Given the description of an element on the screen output the (x, y) to click on. 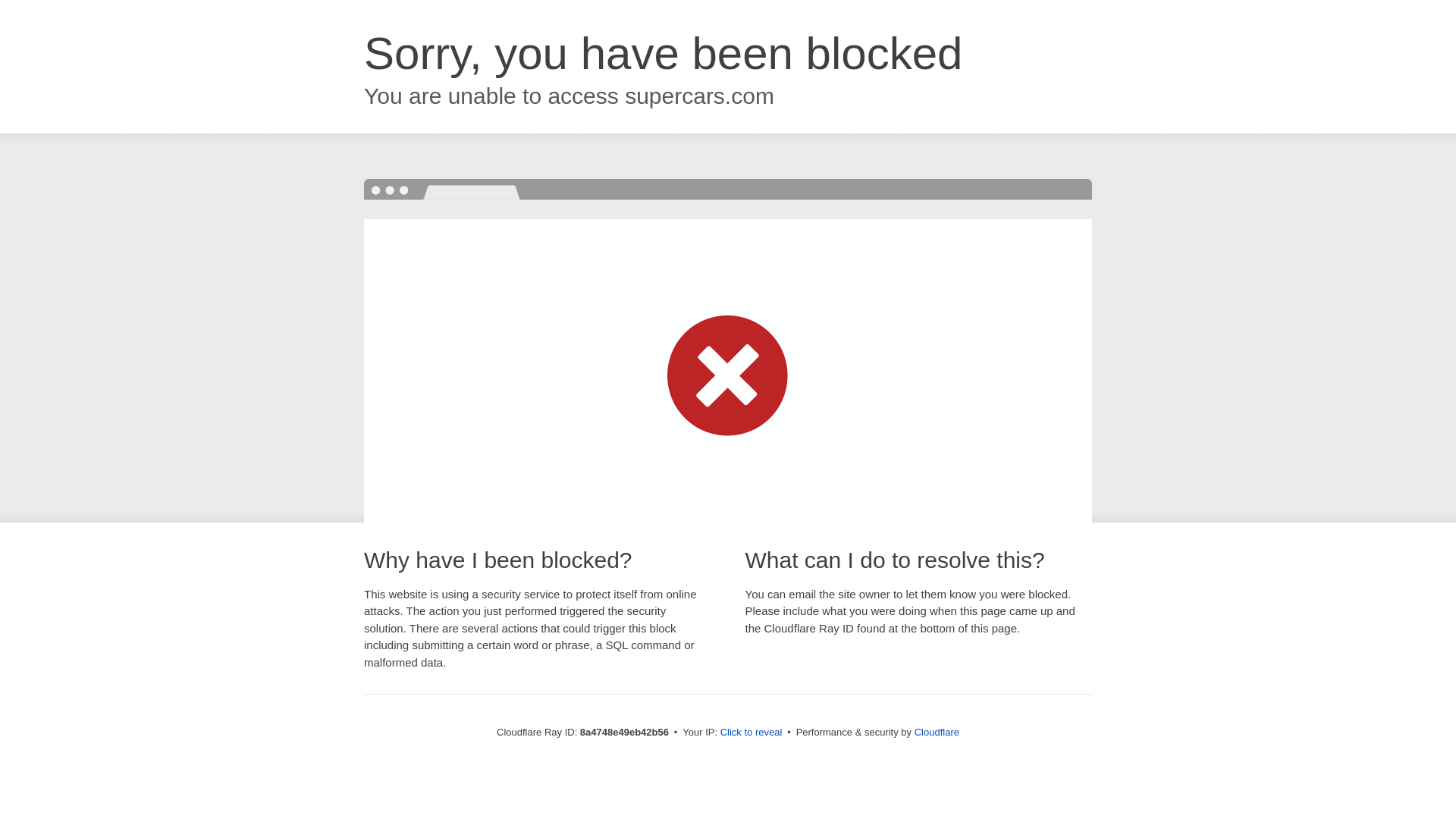
Cloudflare (936, 731)
Click to reveal (751, 732)
